Given the description of an element on the screen output the (x, y) to click on. 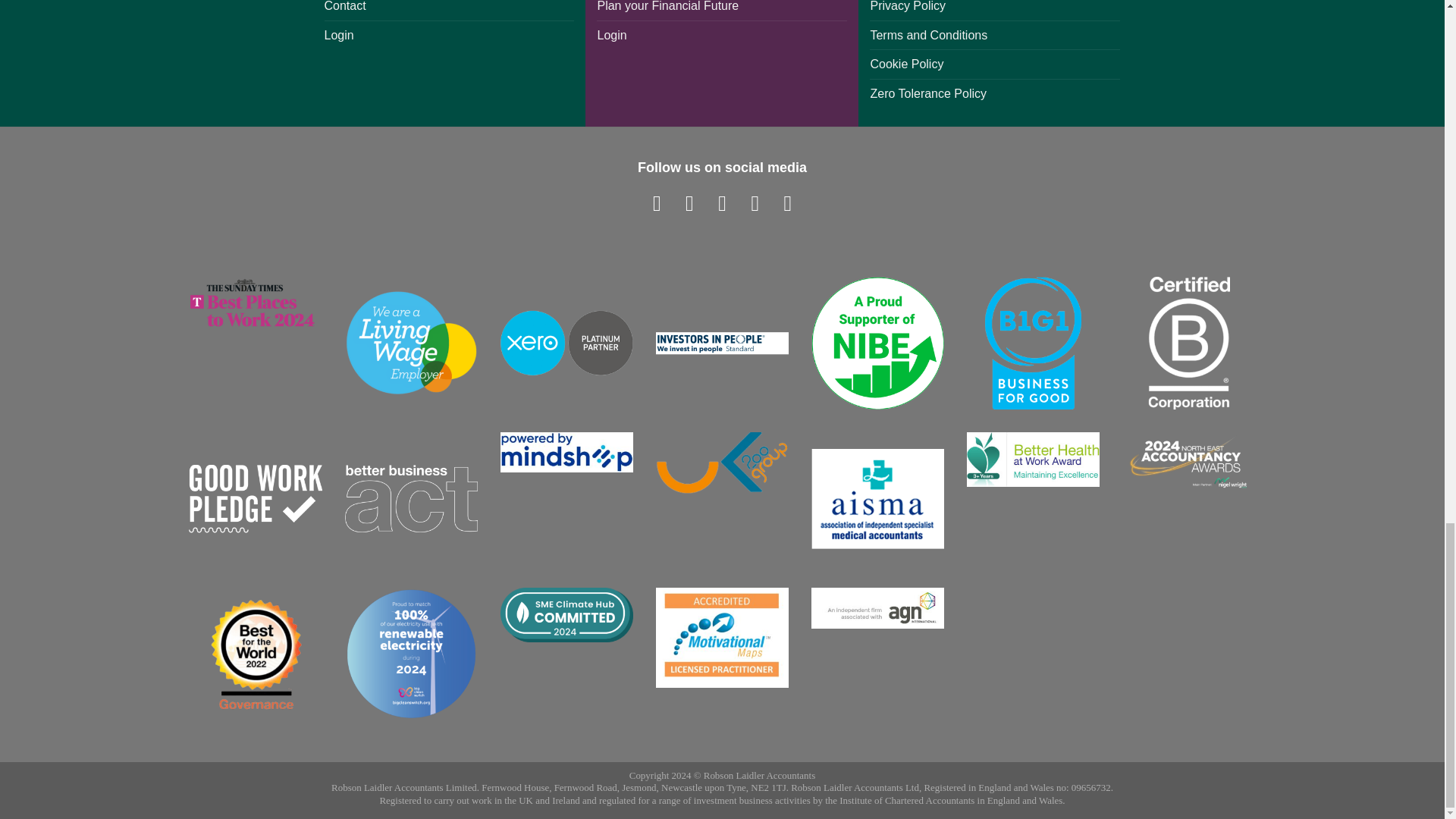
Follow on YouTube (786, 202)
Follow on Twitter (722, 202)
Follow on Instagram (689, 202)
Follow on LinkedIn (754, 202)
Follow on Facebook (657, 202)
